Given the description of an element on the screen output the (x, y) to click on. 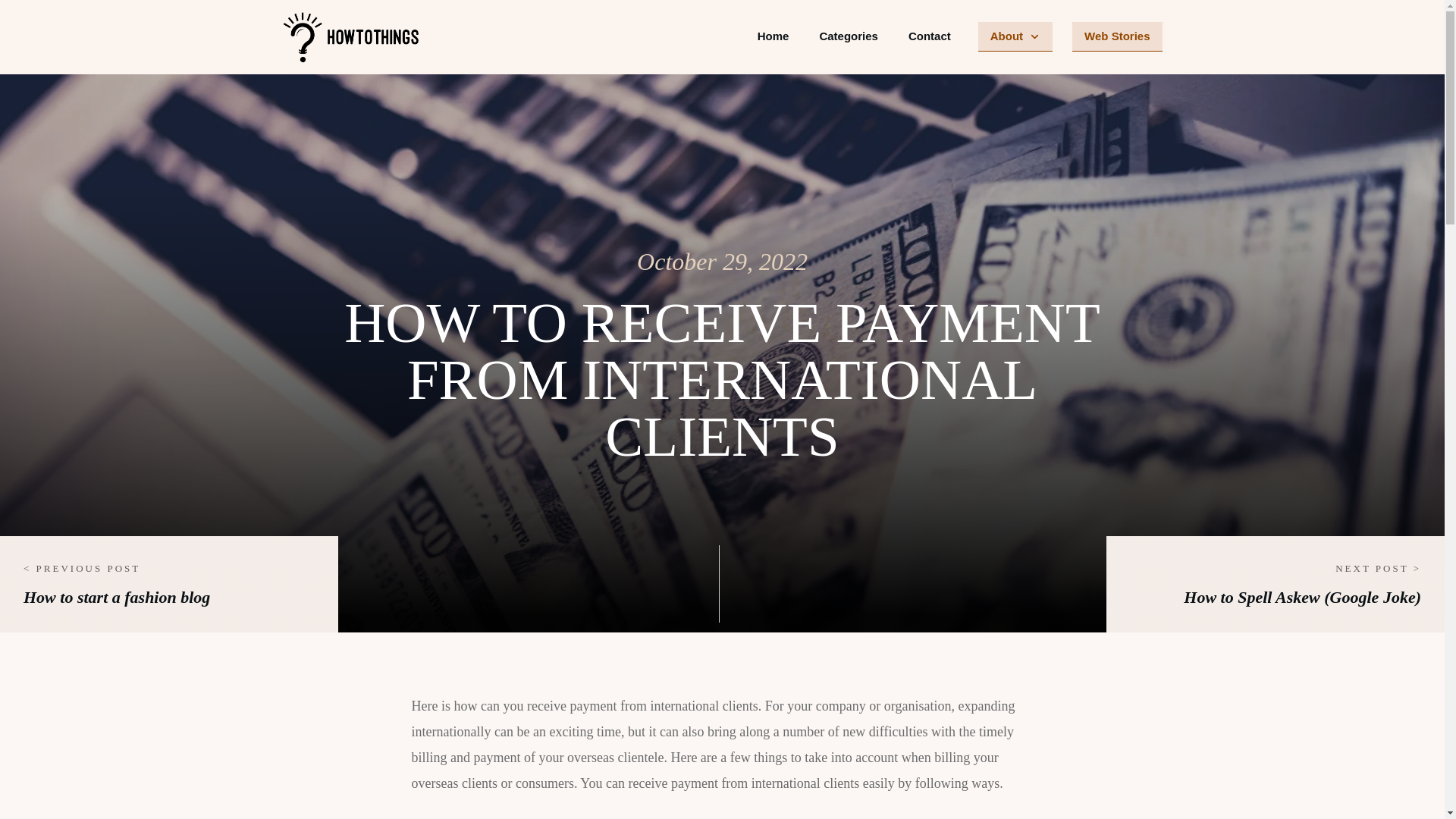
Categories (847, 36)
Contact (929, 36)
About (1015, 36)
Web Stories (1117, 36)
Home (773, 36)
